Given the description of an element on the screen output the (x, y) to click on. 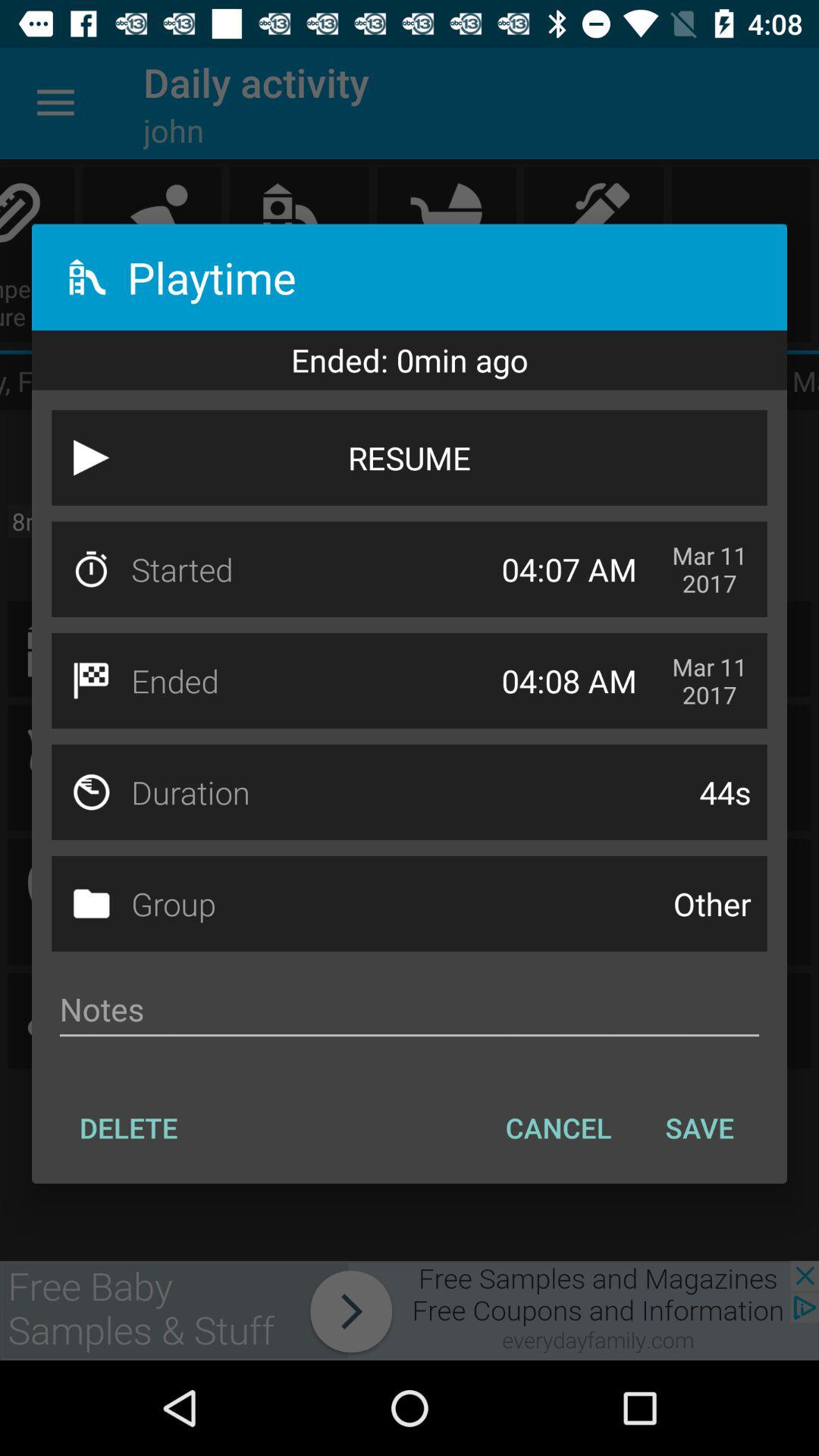
tap icon next to cancel icon (699, 1127)
